Given the description of an element on the screen output the (x, y) to click on. 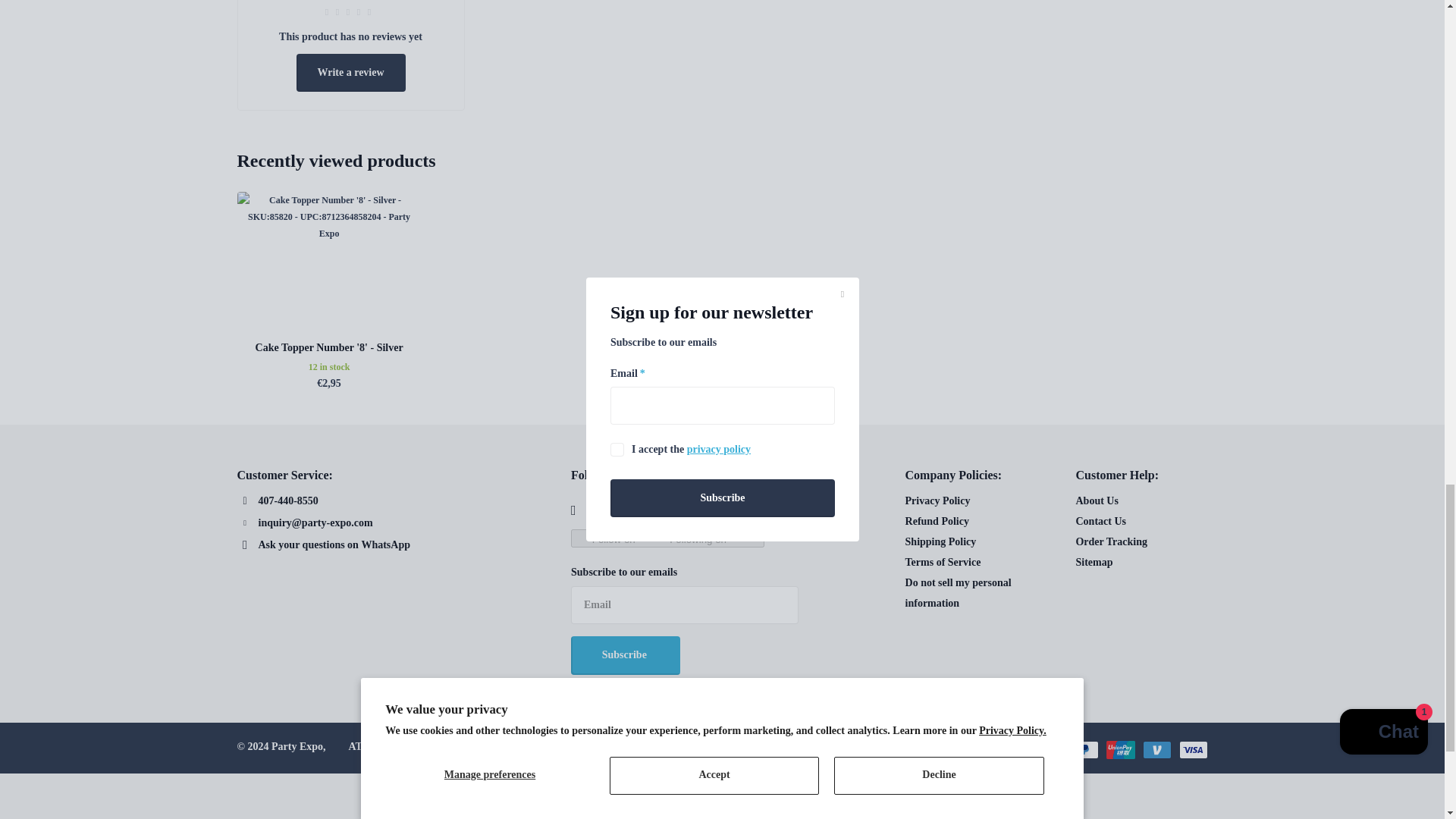
Sitemap (1093, 562)
Klarna (973, 750)
JCB (937, 750)
American Express (828, 750)
Privacy Policy (938, 500)
Order Tracking (1111, 541)
Union Pay (1119, 750)
Maestro (1010, 750)
Venmo (1155, 750)
Refund Policy (937, 521)
Contact Us (1100, 521)
Visa (1192, 750)
Terms of Service (943, 562)
About Us (1096, 500)
Discover (900, 750)
